Given the description of an element on the screen output the (x, y) to click on. 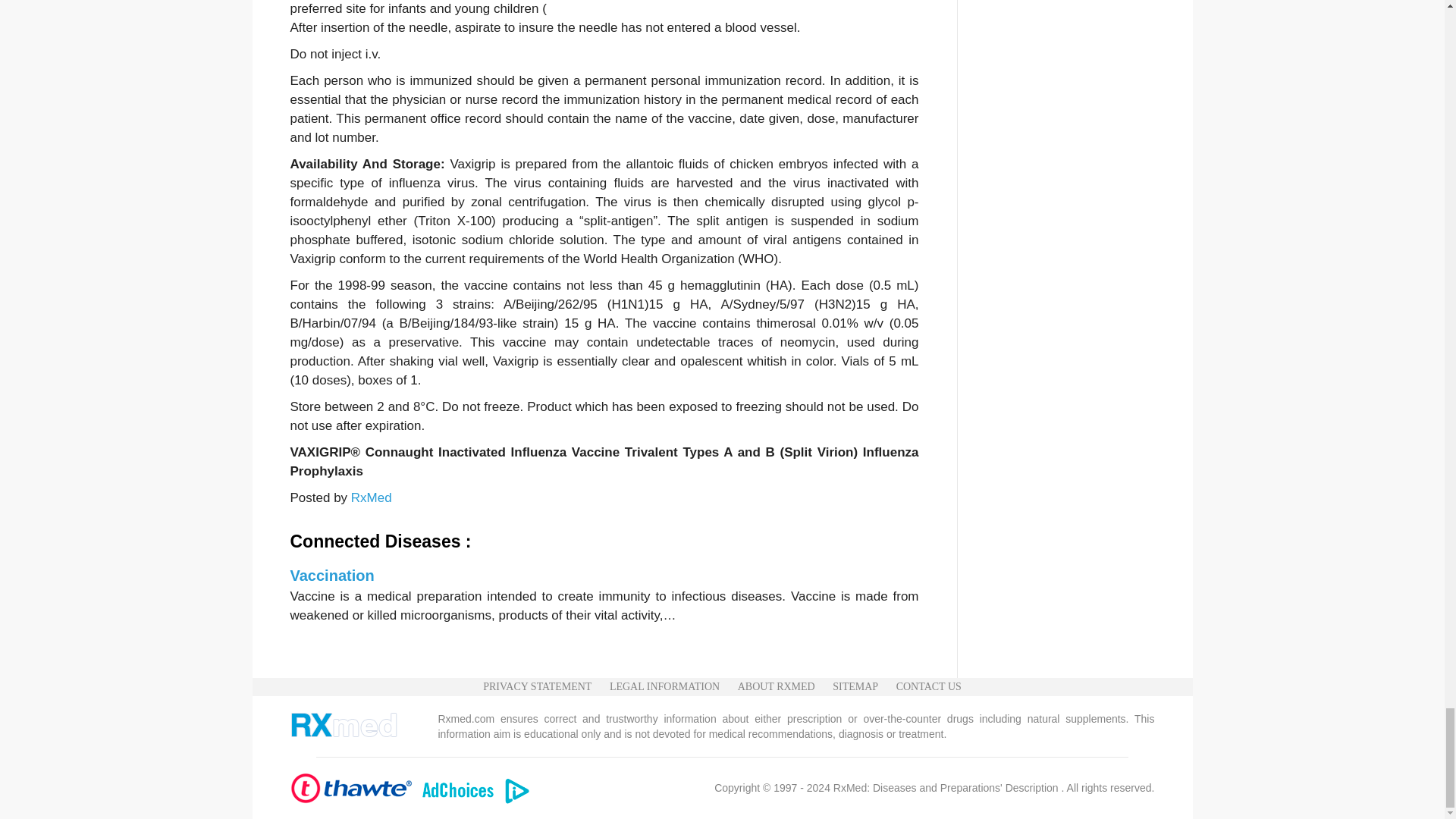
RxMed (370, 497)
CONTACT US (928, 687)
SITEMAP (855, 687)
Vaccination (331, 575)
LEGAL INFORMATION (664, 687)
Vaccination (331, 575)
Posts by RxMed (370, 497)
PRIVACY STATEMENT (537, 687)
ABOUT RXMED (776, 687)
